Given the description of an element on the screen output the (x, y) to click on. 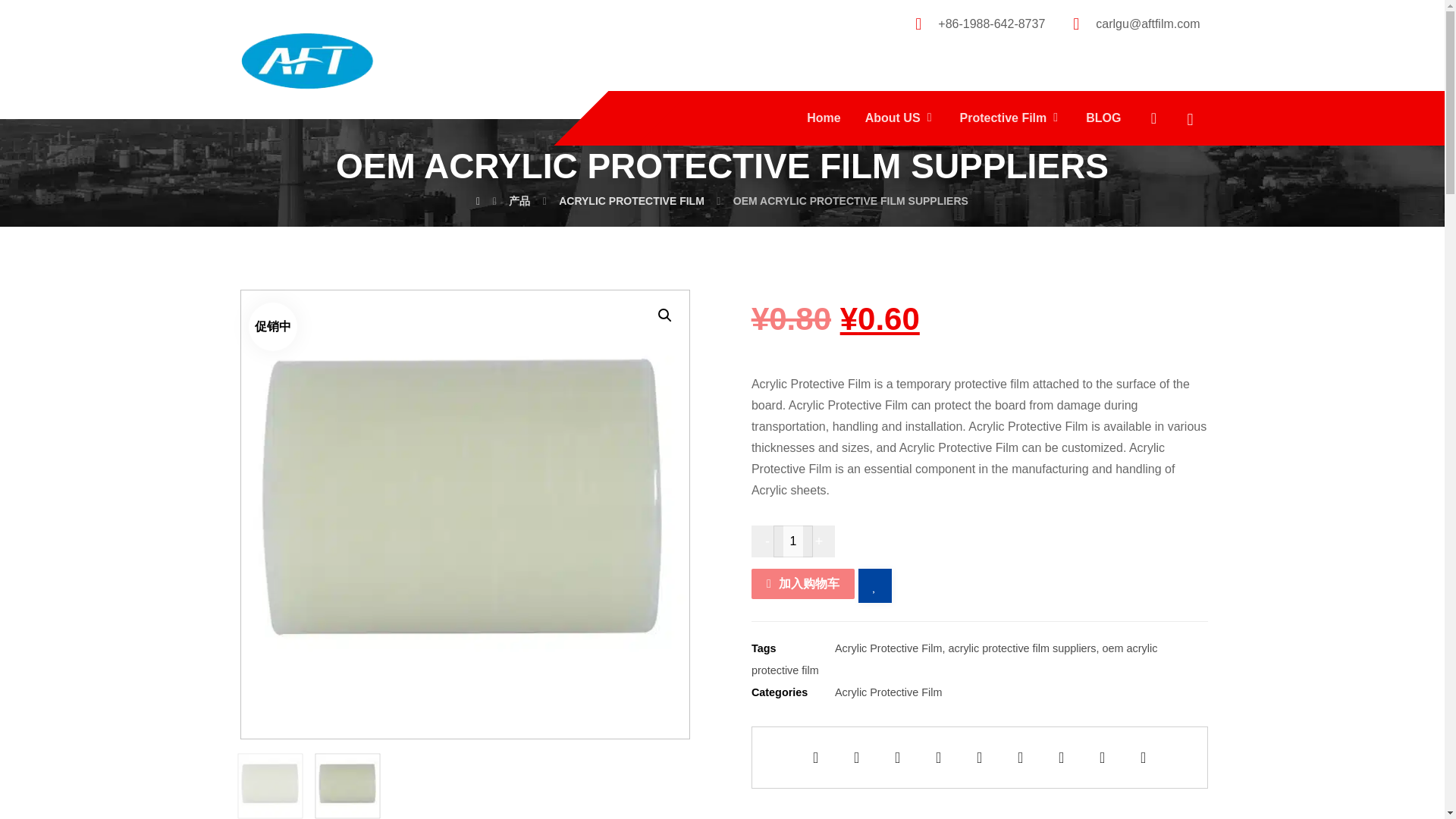
Protective Film (1010, 118)
1 (792, 541)
About US (900, 118)
Professional Protective Film Manufacturer (303, 59)
